Given the description of an element on the screen output the (x, y) to click on. 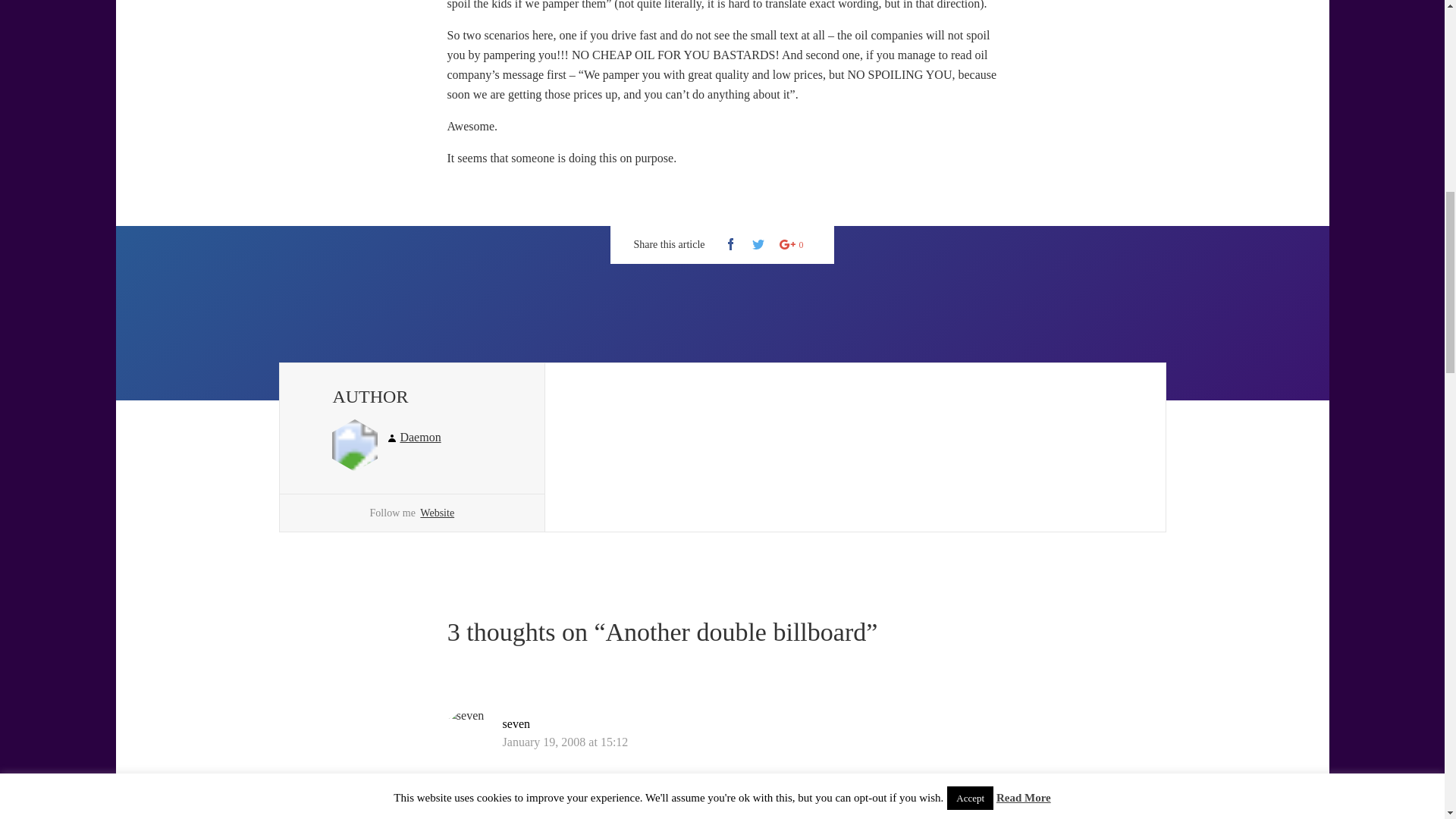
January 19, 2008 at 15:12 (565, 741)
0 (792, 244)
Website (437, 512)
seven (515, 723)
